Given the description of an element on the screen output the (x, y) to click on. 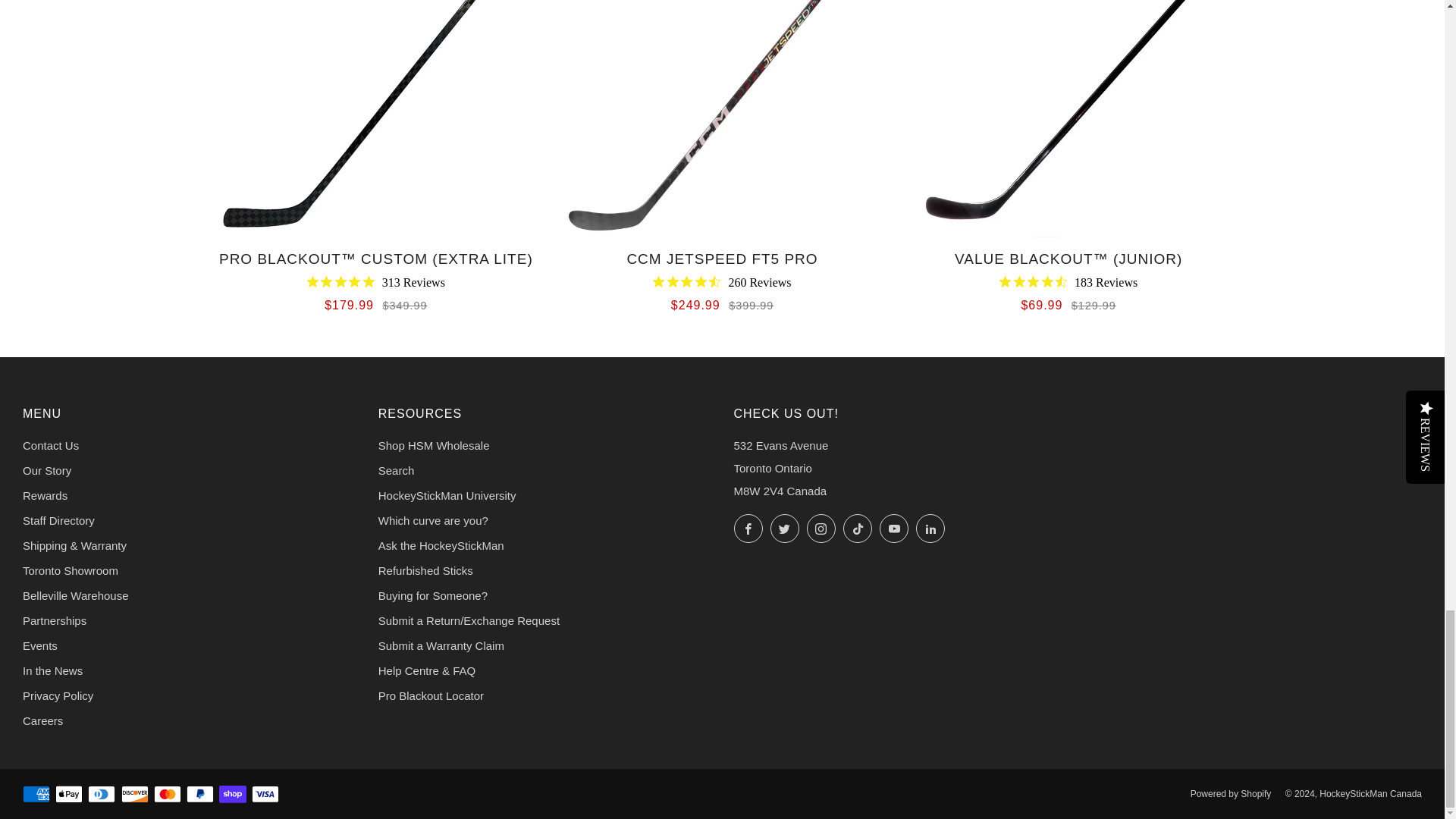
183 Reviews (1067, 282)
313 Reviews (376, 282)
260 Reviews (721, 282)
